Given the description of an element on the screen output the (x, y) to click on. 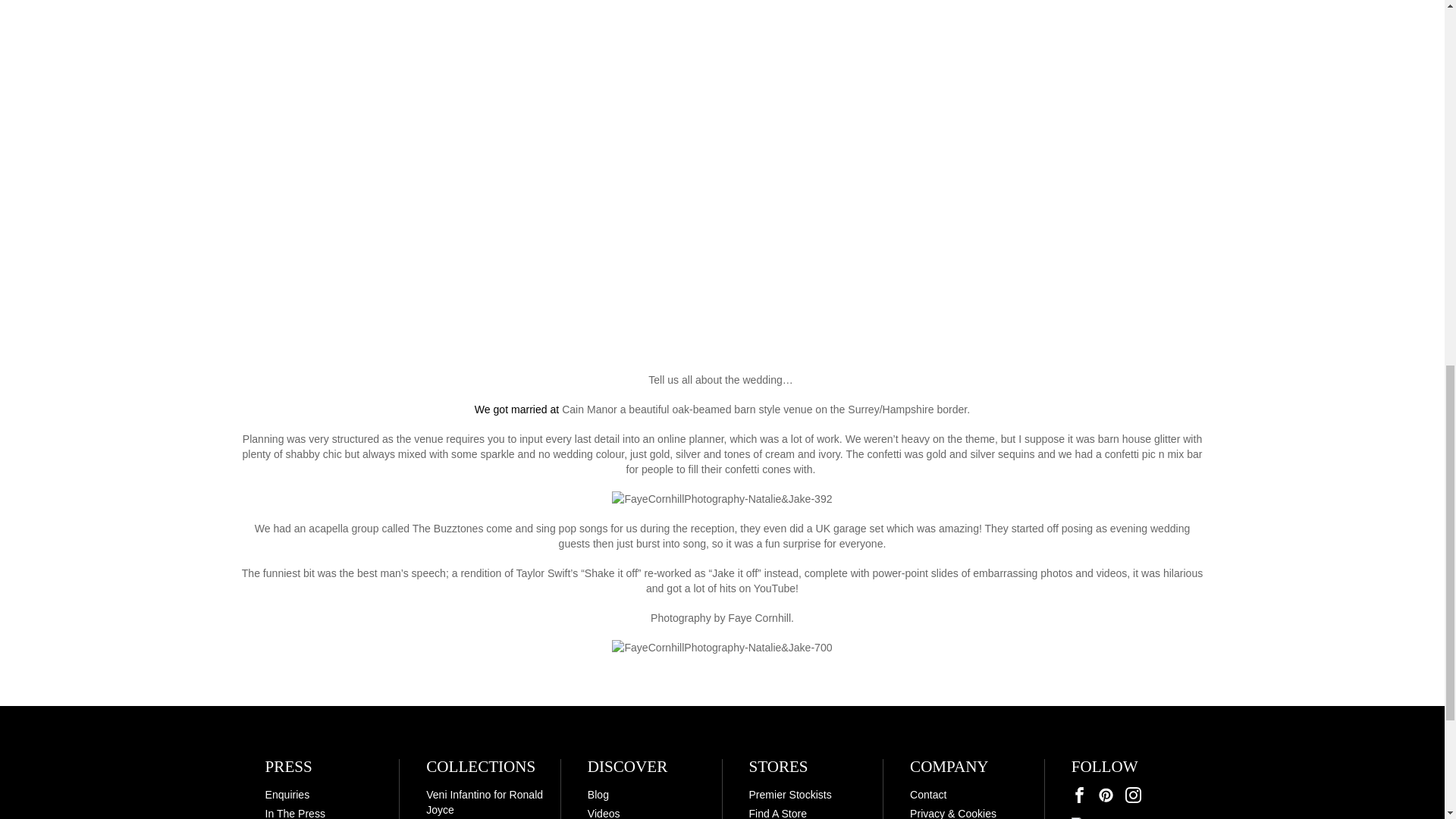
Blog (598, 794)
Videos (604, 813)
We got married at (518, 409)
Veni Infantino for Ronald Joyce (484, 801)
In The Press (294, 813)
Enquiries (287, 794)
